Given the description of an element on the screen output the (x, y) to click on. 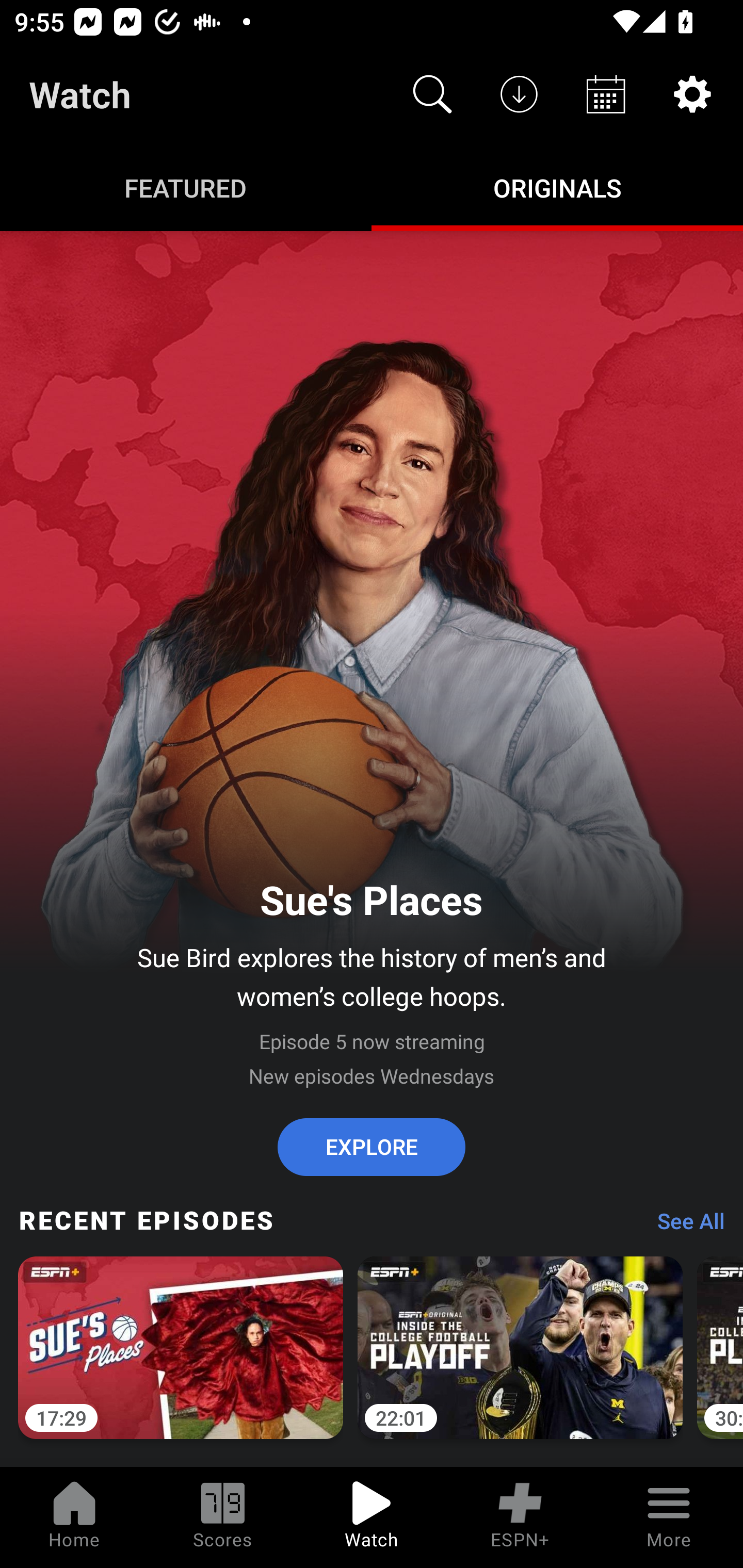
Search (432, 93)
Downloads (518, 93)
Schedule (605, 93)
Settings (692, 93)
Featured FEATURED (185, 187)
EXPLORE (371, 1146)
See All (683, 1225)
17:29 Bird is the Word (Ep. 5) (180, 1358)
22:01 Nobody Better (Ep. 4) (519, 1358)
Home (74, 1517)
Scores (222, 1517)
ESPN+ (519, 1517)
More (668, 1517)
